Given the description of an element on the screen output the (x, y) to click on. 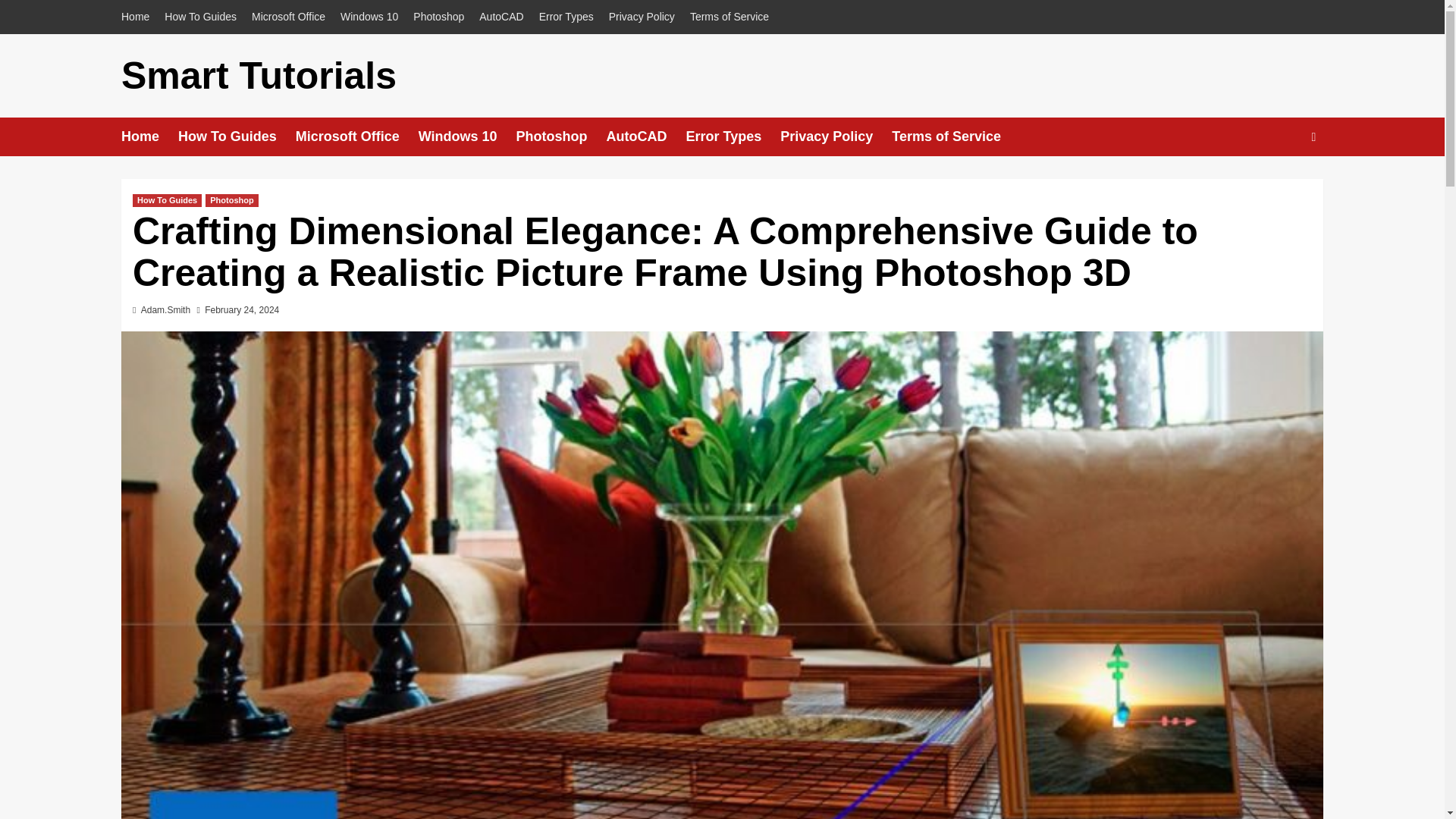
Windows 10 (467, 136)
Home (138, 17)
Windows 10 (369, 17)
Search (1278, 183)
February 24, 2024 (242, 309)
Photoshop (231, 200)
Photoshop (438, 17)
Privacy Policy (641, 17)
Error Types (566, 17)
Home (148, 136)
